Given the description of an element on the screen output the (x, y) to click on. 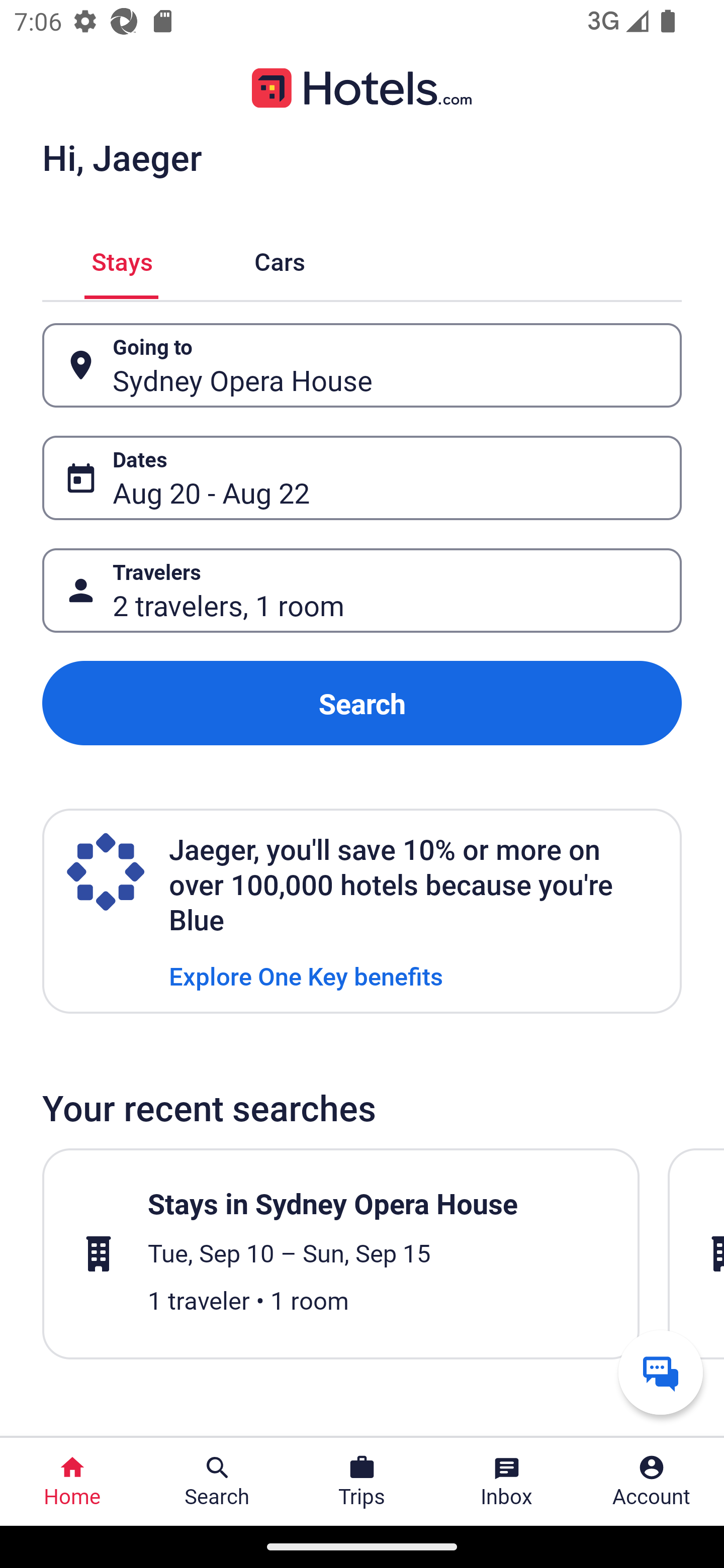
Hi, Jaeger (121, 156)
Cars (279, 259)
Going to Button Sydney Opera House (361, 365)
Dates Button Aug 20 - Aug 22 (361, 477)
Travelers Button 2 travelers, 1 room (361, 590)
Search (361, 702)
Get help from a virtual agent (660, 1371)
Search Search Button (216, 1481)
Trips Trips Button (361, 1481)
Inbox Inbox Button (506, 1481)
Account Profile. Button (651, 1481)
